Given the description of an element on the screen output the (x, y) to click on. 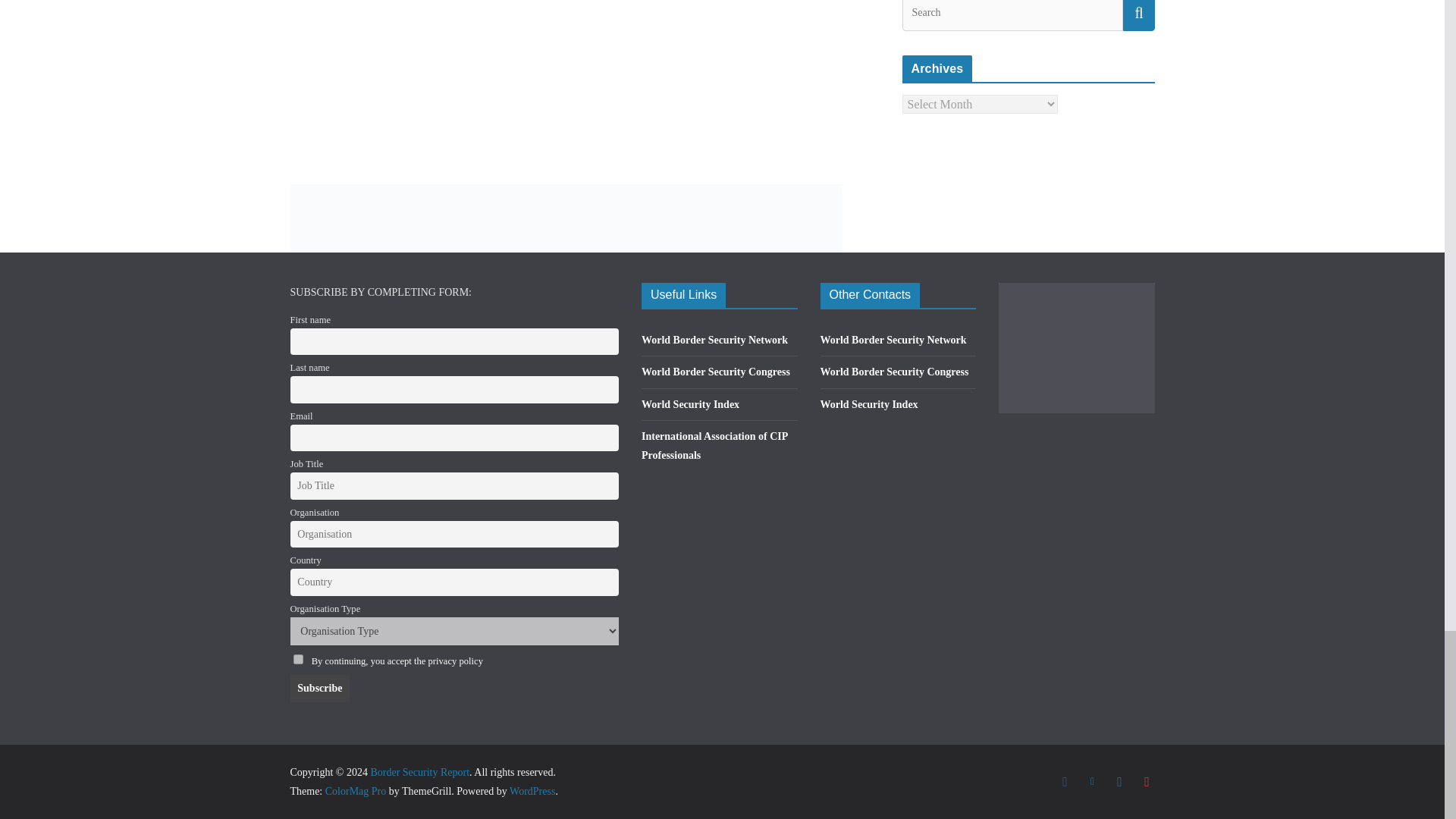
Subscribe (319, 687)
on (297, 659)
WordPress (531, 790)
Border Security Report (418, 772)
ColorMag Pro (355, 790)
